Given the description of an element on the screen output the (x, y) to click on. 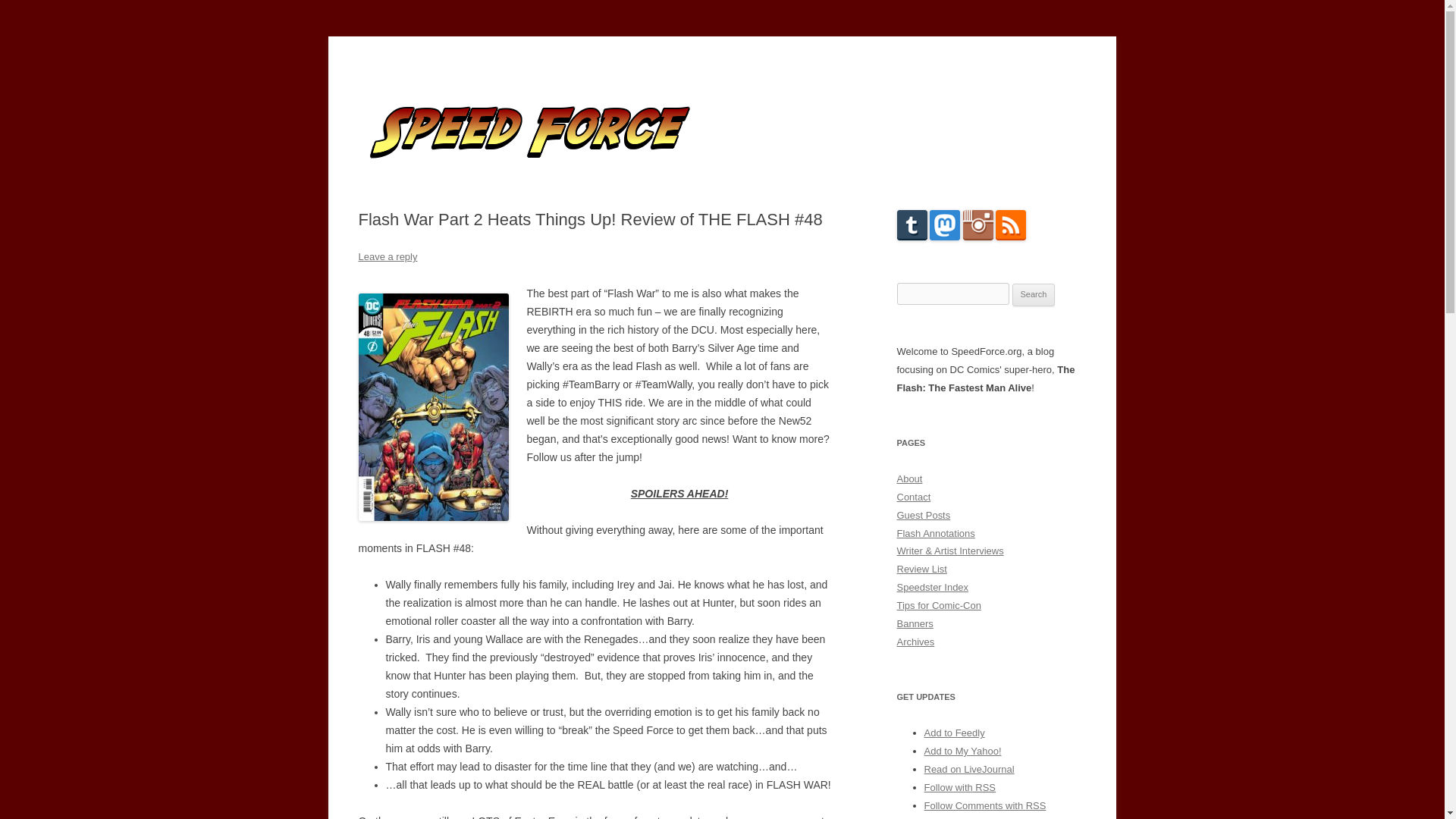
Really Simple Syndication (985, 787)
Contact (913, 496)
Leave a reply (387, 256)
Syndicate this site using RSS 2.0 (959, 787)
Search (1033, 294)
Speedster Index (932, 586)
Instagram Photos from Speed Force (977, 236)
Tumblr: SpeedForceOrg (911, 236)
Archives (915, 641)
Banners (914, 623)
Tips for Comic-Con (937, 604)
About (908, 478)
RSS Feed (1010, 236)
Flash Annotations (935, 532)
